Given the description of an element on the screen output the (x, y) to click on. 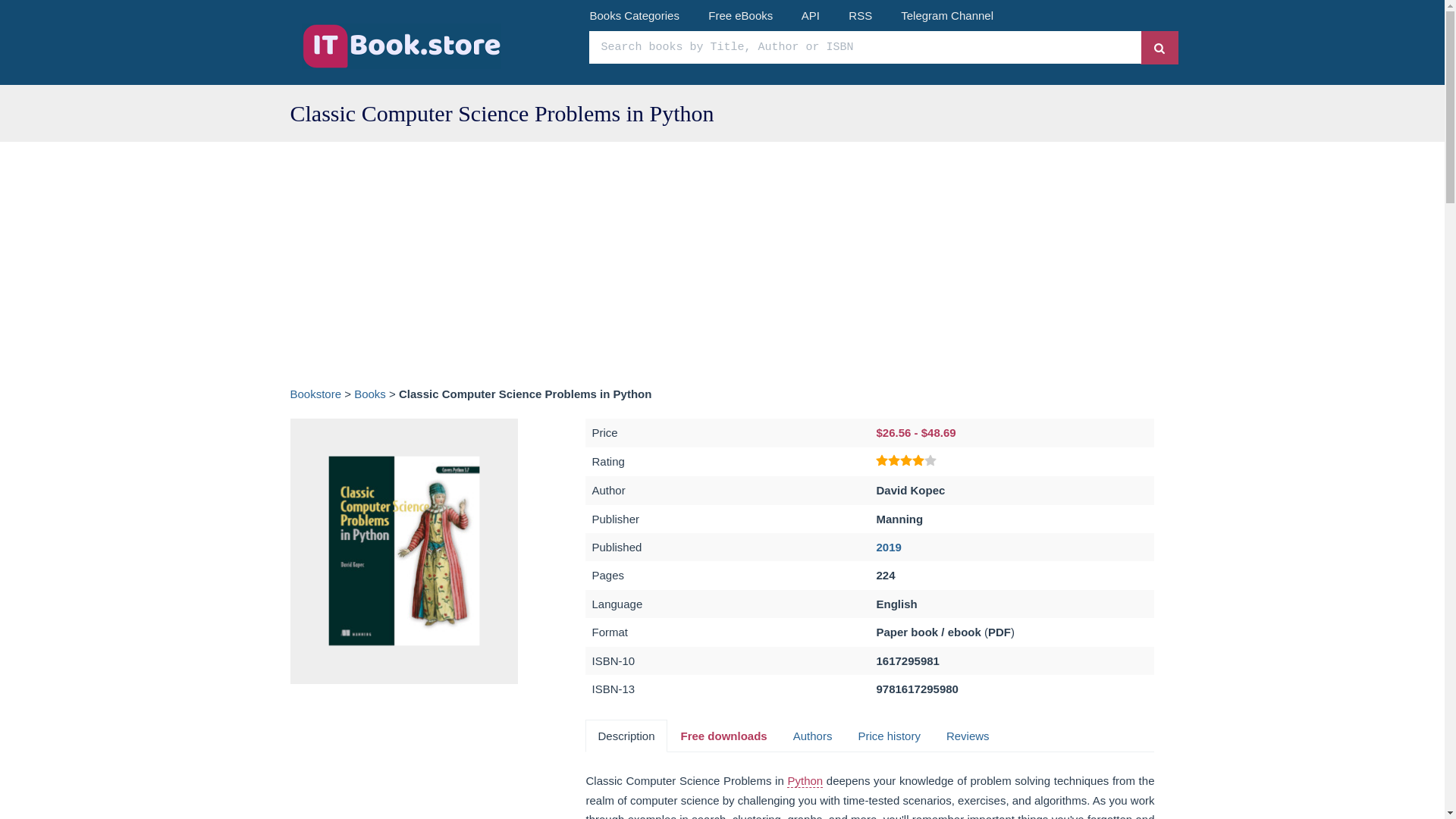
Python (804, 780)
RSS Feed (860, 15)
Books (369, 393)
Free downloads (723, 735)
Books (369, 393)
Free eBooks (740, 15)
2019 (888, 546)
API (810, 15)
RSS (860, 15)
Advertisement (402, 760)
Books Categories (633, 15)
Books Categories (633, 15)
Python Books (804, 780)
Bookstore (314, 393)
API (810, 15)
